Given the description of an element on the screen output the (x, y) to click on. 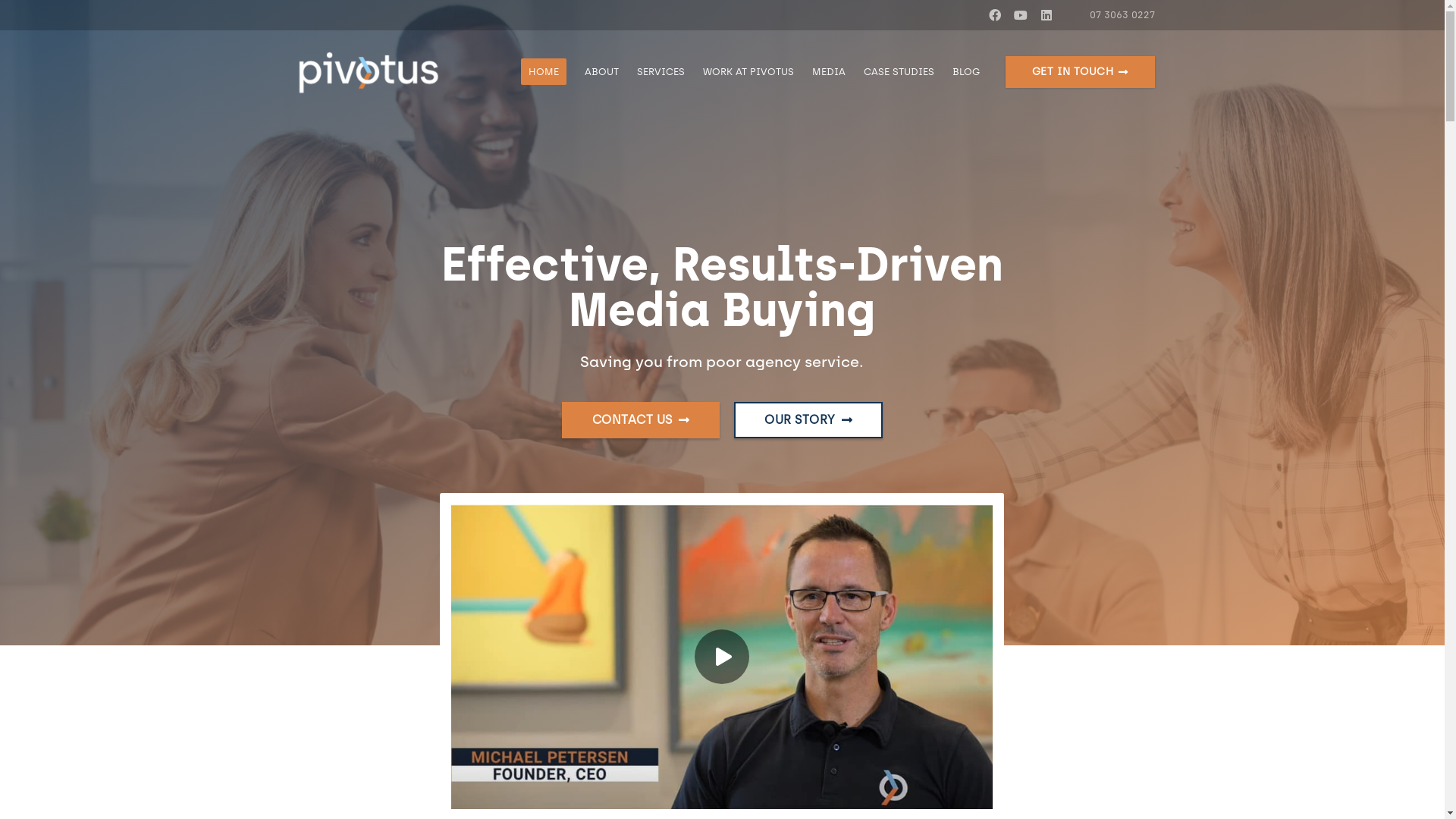
BLOG Element type: text (965, 71)
CONTACT US Element type: text (640, 419)
HOME Element type: text (543, 71)
WORK AT PIVOTUS Element type: text (748, 71)
GET IN TOUCH Element type: text (1079, 71)
07 3063 0227 Element type: text (1114, 14)
ABOUT Element type: text (601, 71)
Facebook Element type: hover (994, 15)
MEDIA Element type: text (828, 71)
LinkedIn Element type: hover (1046, 15)
OUR STORY Element type: text (808, 419)
YouTube Element type: hover (1020, 15)
SERVICES Element type: text (660, 71)
CASE STUDIES Element type: text (898, 71)
